Given the description of an element on the screen output the (x, y) to click on. 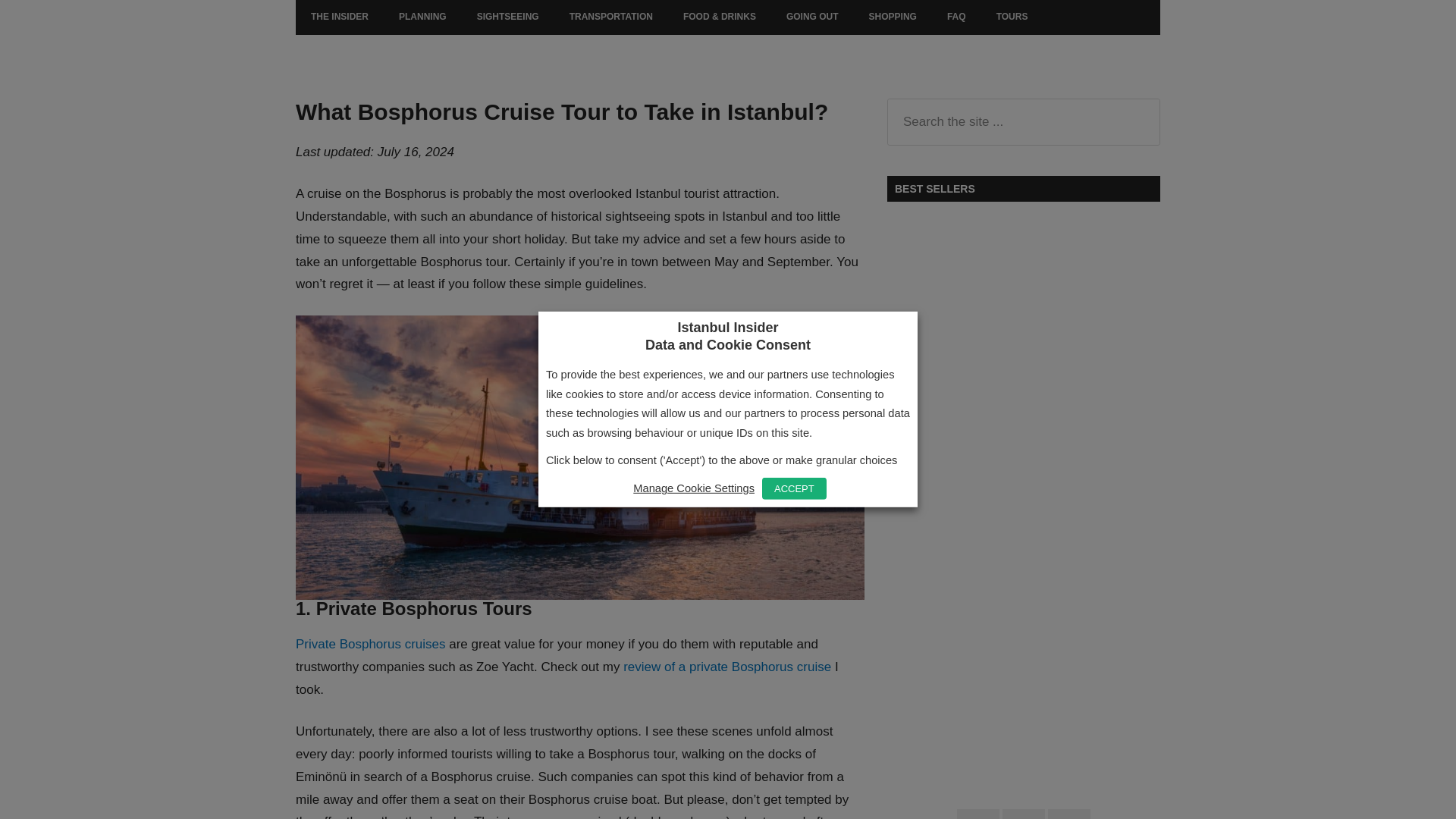
PLANNING (422, 17)
THE INSIDER (339, 17)
GOING OUT (812, 17)
TRANSPORTATION (611, 17)
TOURS (1012, 17)
Private Bosphorus cruises (370, 644)
review of a private Bosphorus cruise (727, 667)
SHOPPING (892, 17)
